Given the description of an element on the screen output the (x, y) to click on. 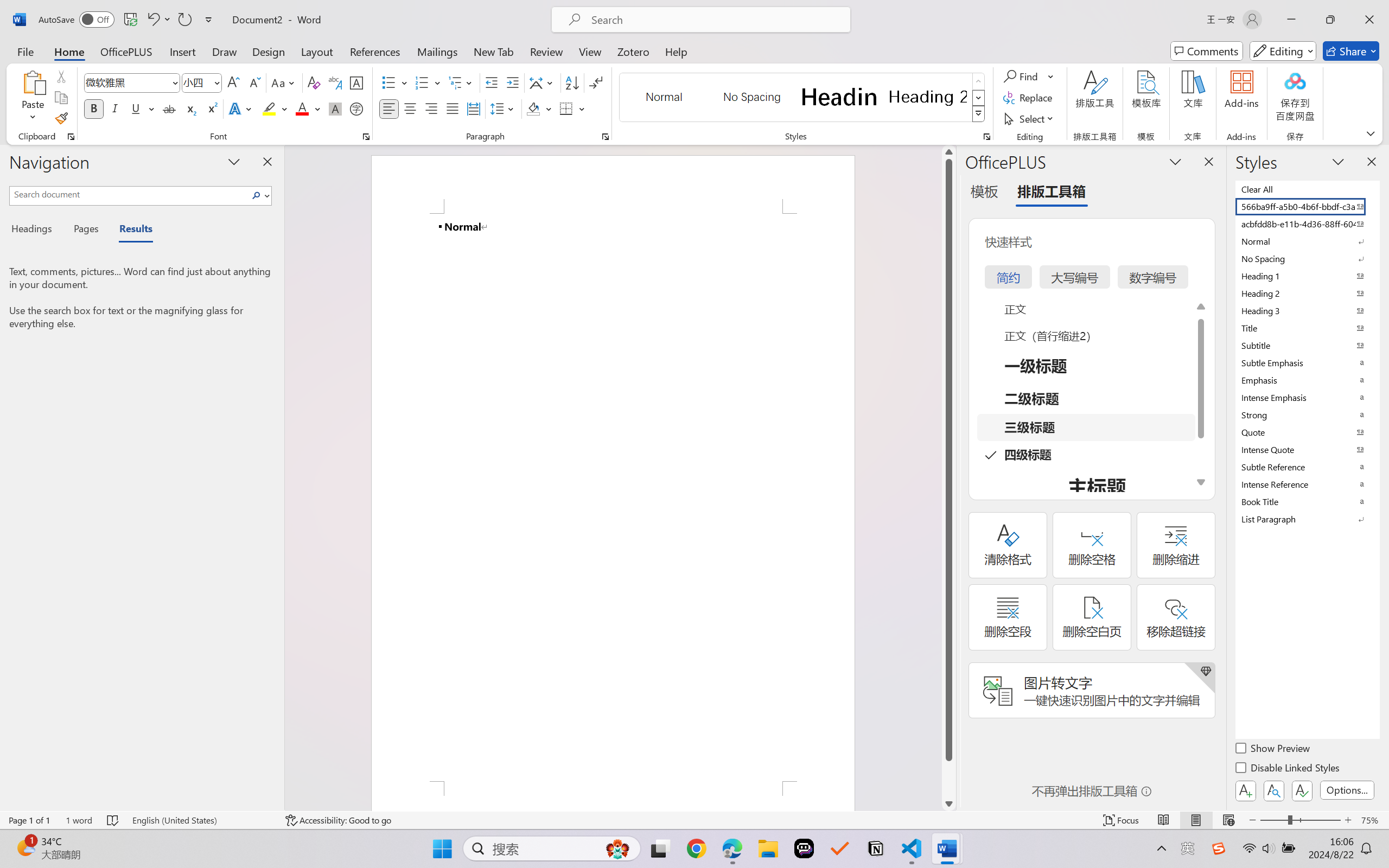
AutomationID: QuickStylesGallery (802, 97)
Intense Quote (1306, 449)
Row up (978, 81)
Numbering (421, 82)
Repeat Doc Close (184, 19)
Decrease Indent (491, 82)
Strikethrough (169, 108)
Class: MsoCommandBar (694, 819)
Open (215, 82)
566ba9ff-a5b0-4b6f-bbdf-c3ab41993fc2 (1306, 206)
